Given the description of an element on the screen output the (x, y) to click on. 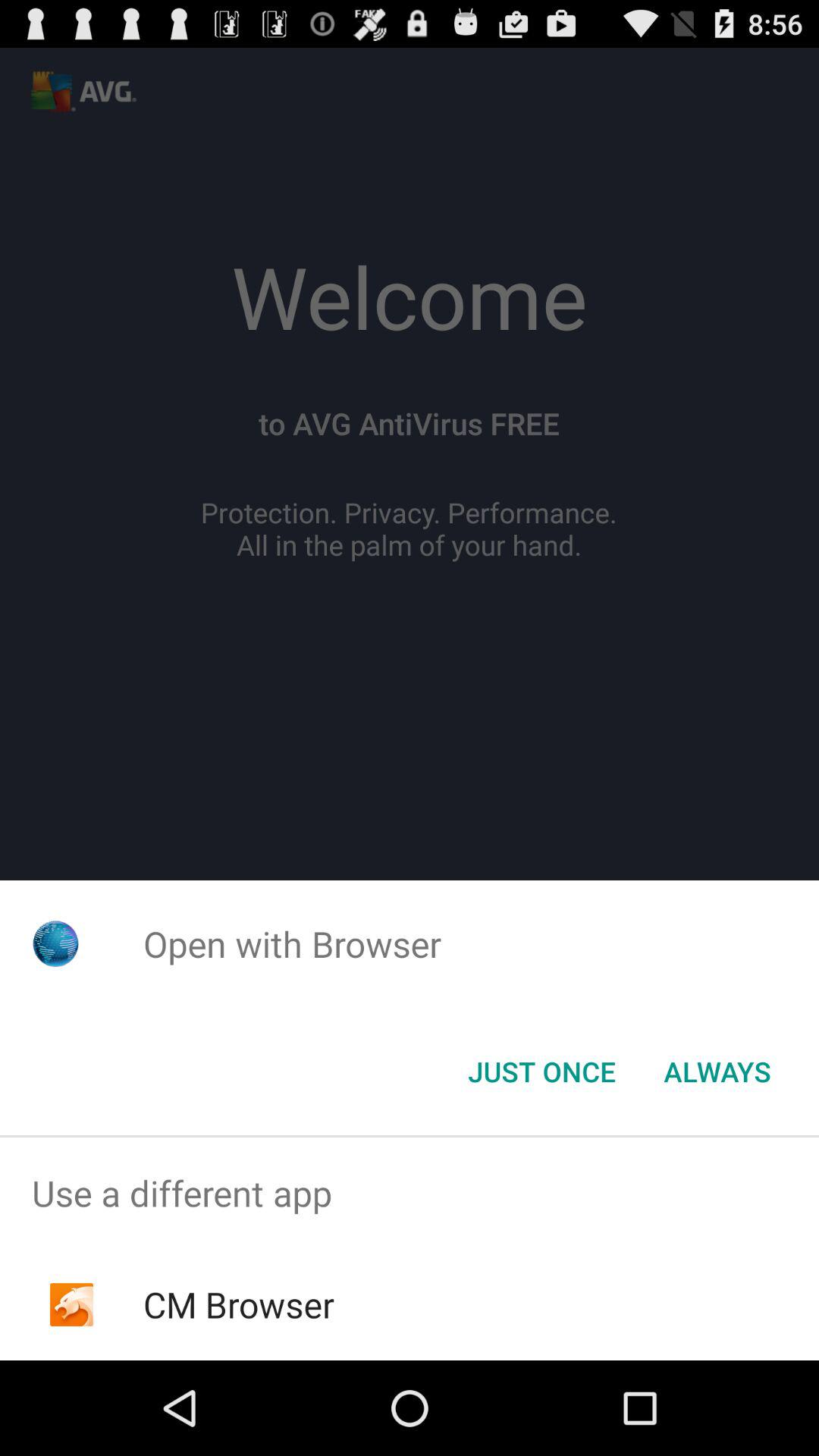
choose item at the bottom right corner (717, 1071)
